Given the description of an element on the screen output the (x, y) to click on. 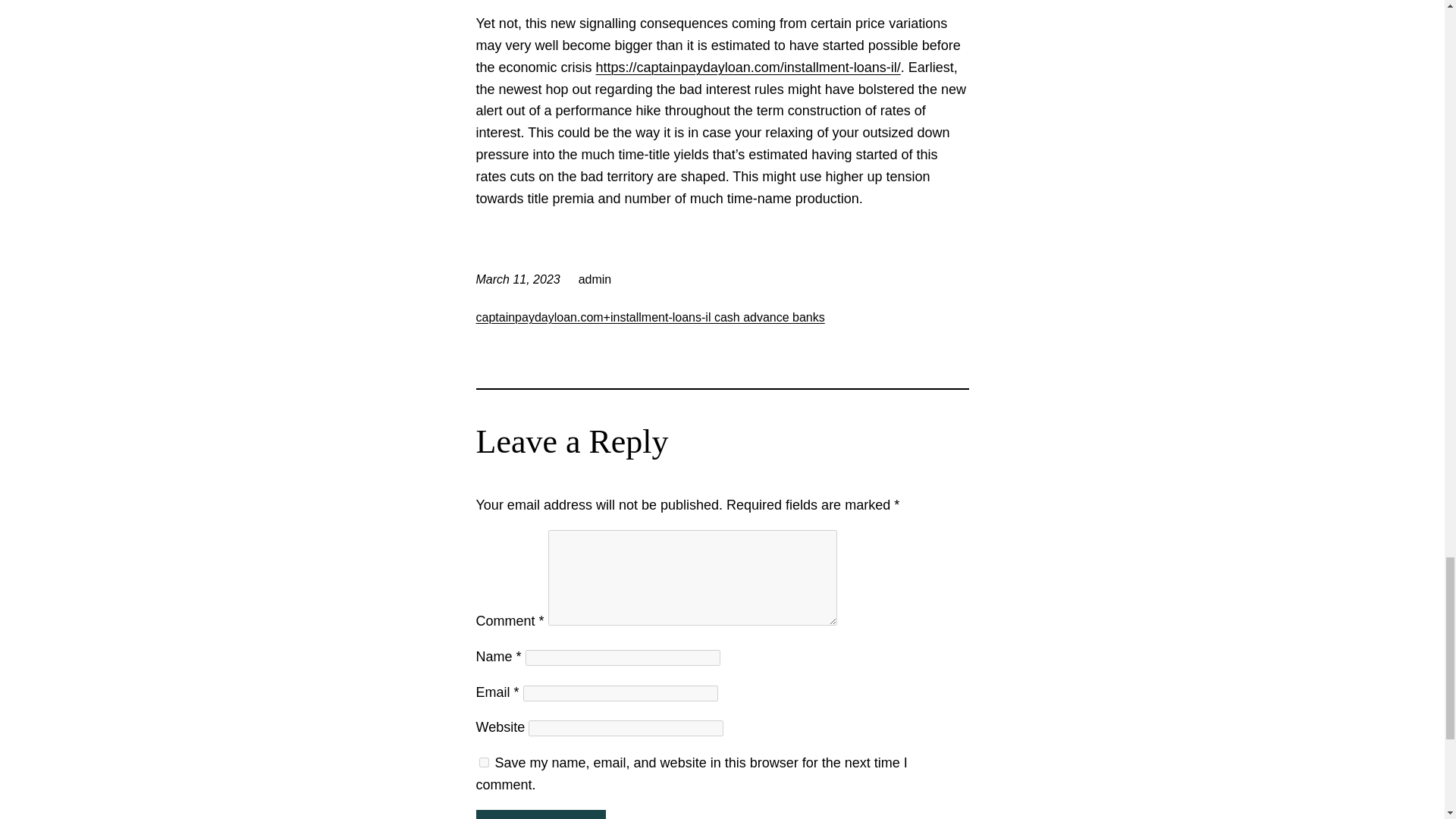
yes (484, 762)
Post Comment (540, 814)
Post Comment (540, 814)
